Given the description of an element on the screen output the (x, y) to click on. 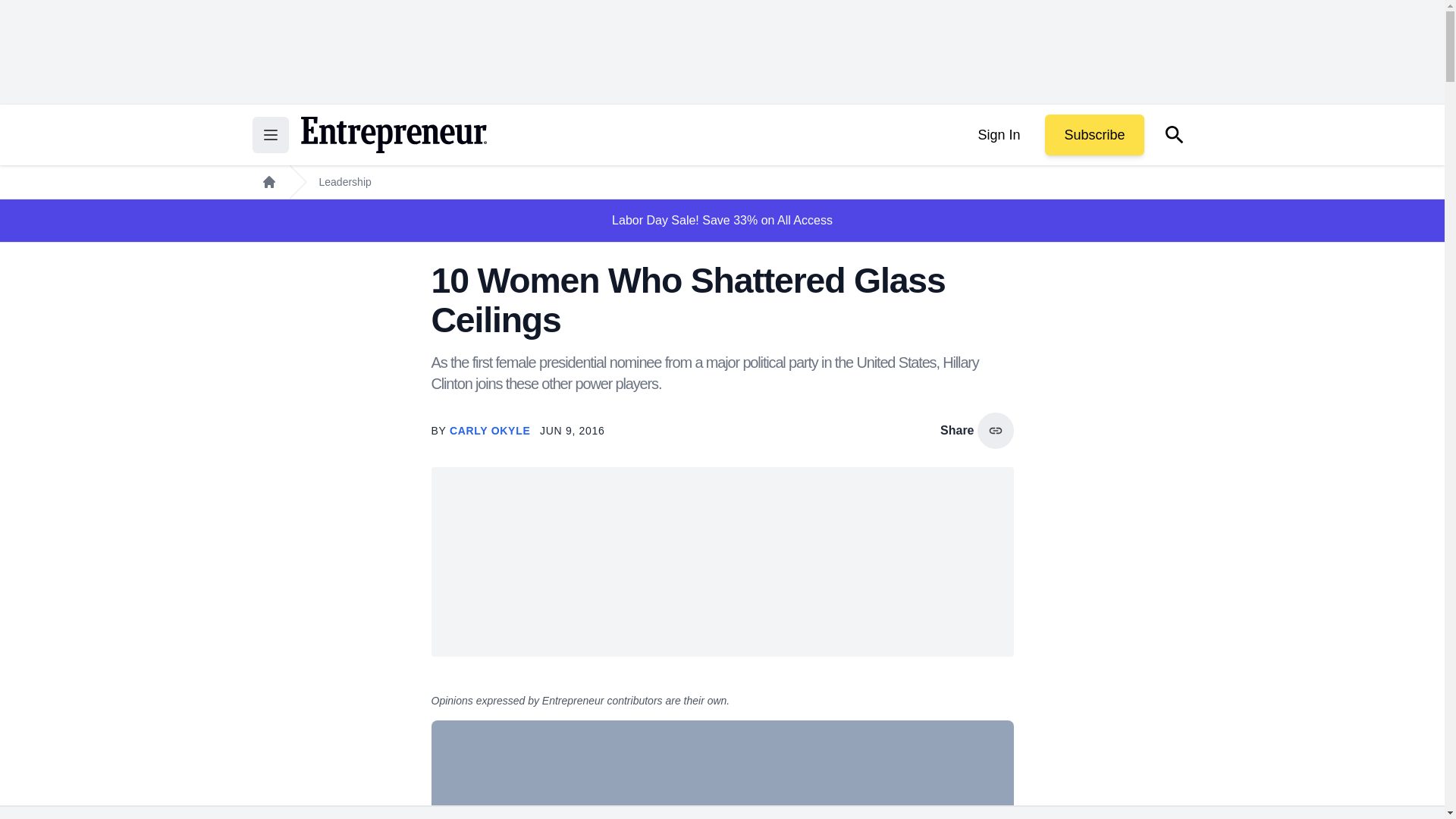
Subscribe (1093, 134)
copy (994, 430)
Sign In (998, 134)
Return to the home page (392, 135)
